Given the description of an element on the screen output the (x, y) to click on. 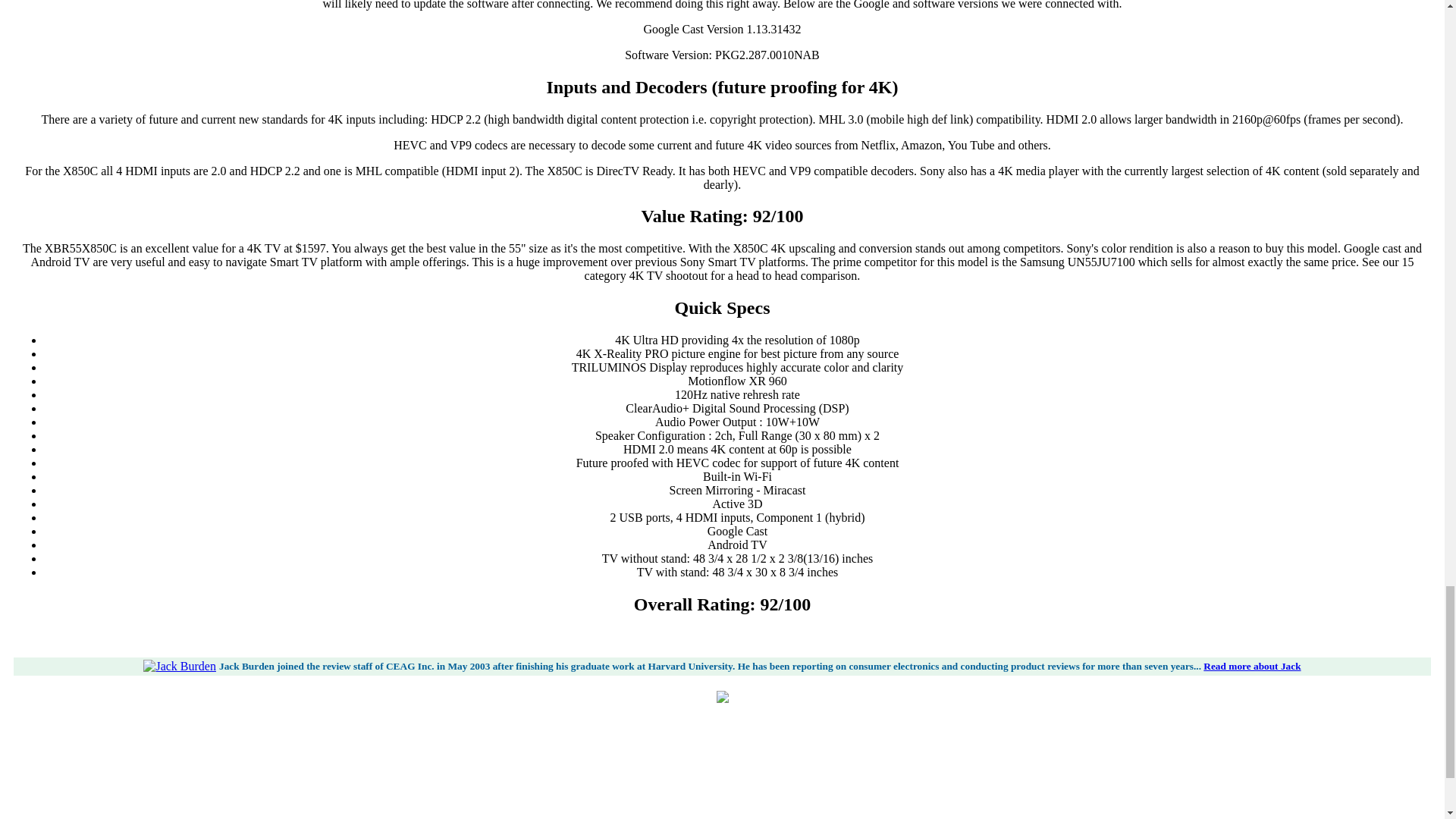
Read more about Jack (1252, 665)
Jack Burden (178, 666)
